Given the description of an element on the screen output the (x, y) to click on. 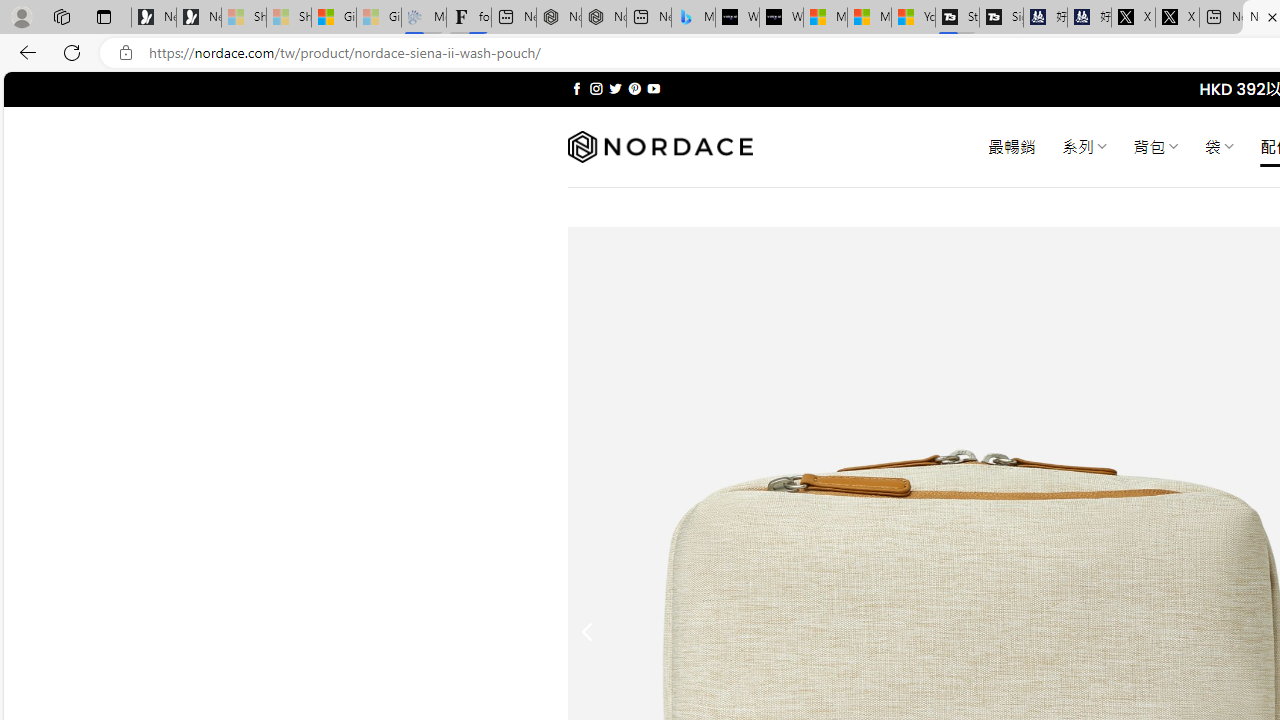
Follow on Facebook (576, 88)
Follow on Twitter (615, 88)
